Given the description of an element on the screen output the (x, y) to click on. 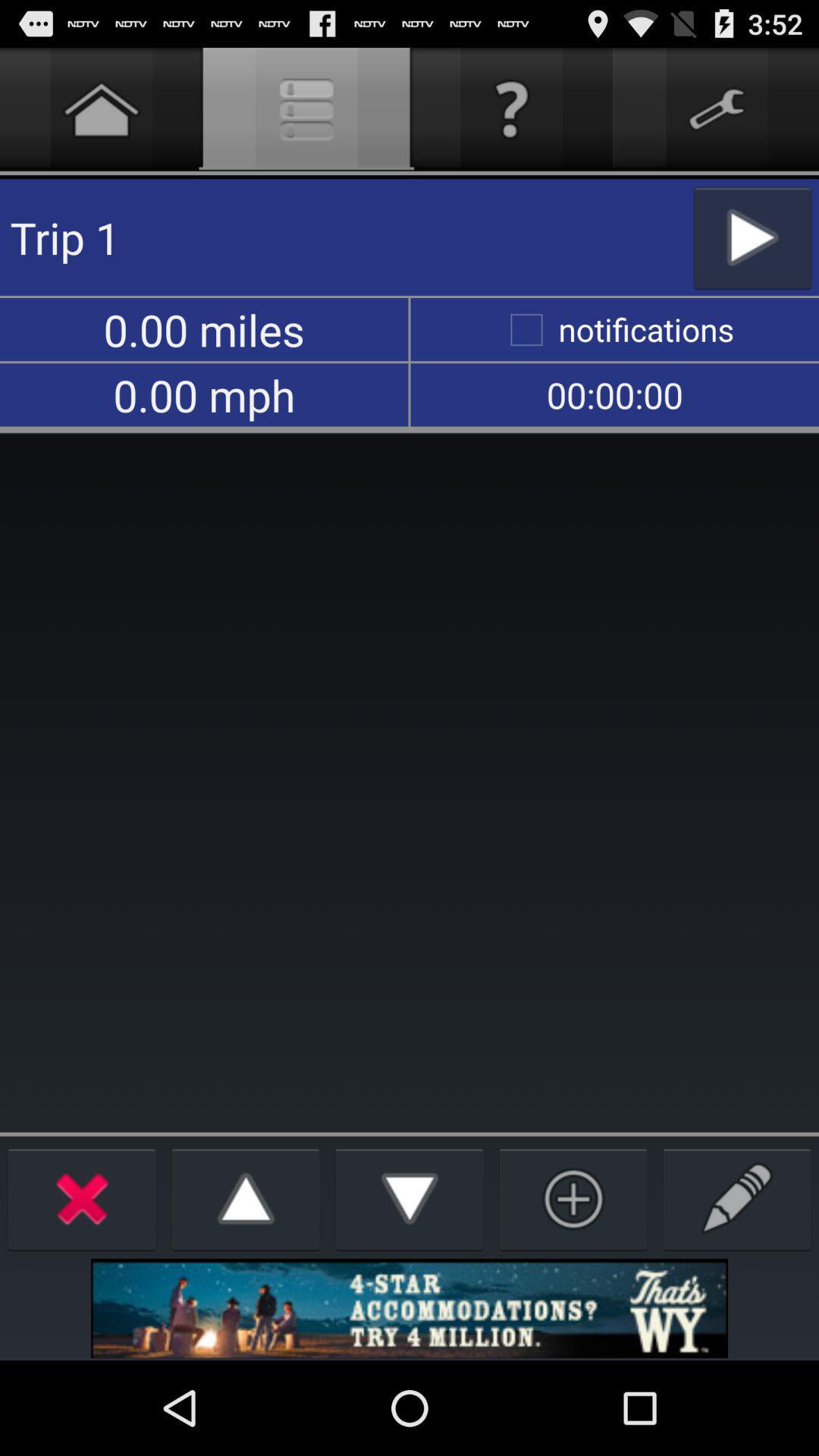
exit (81, 1198)
